Given the description of an element on the screen output the (x, y) to click on. 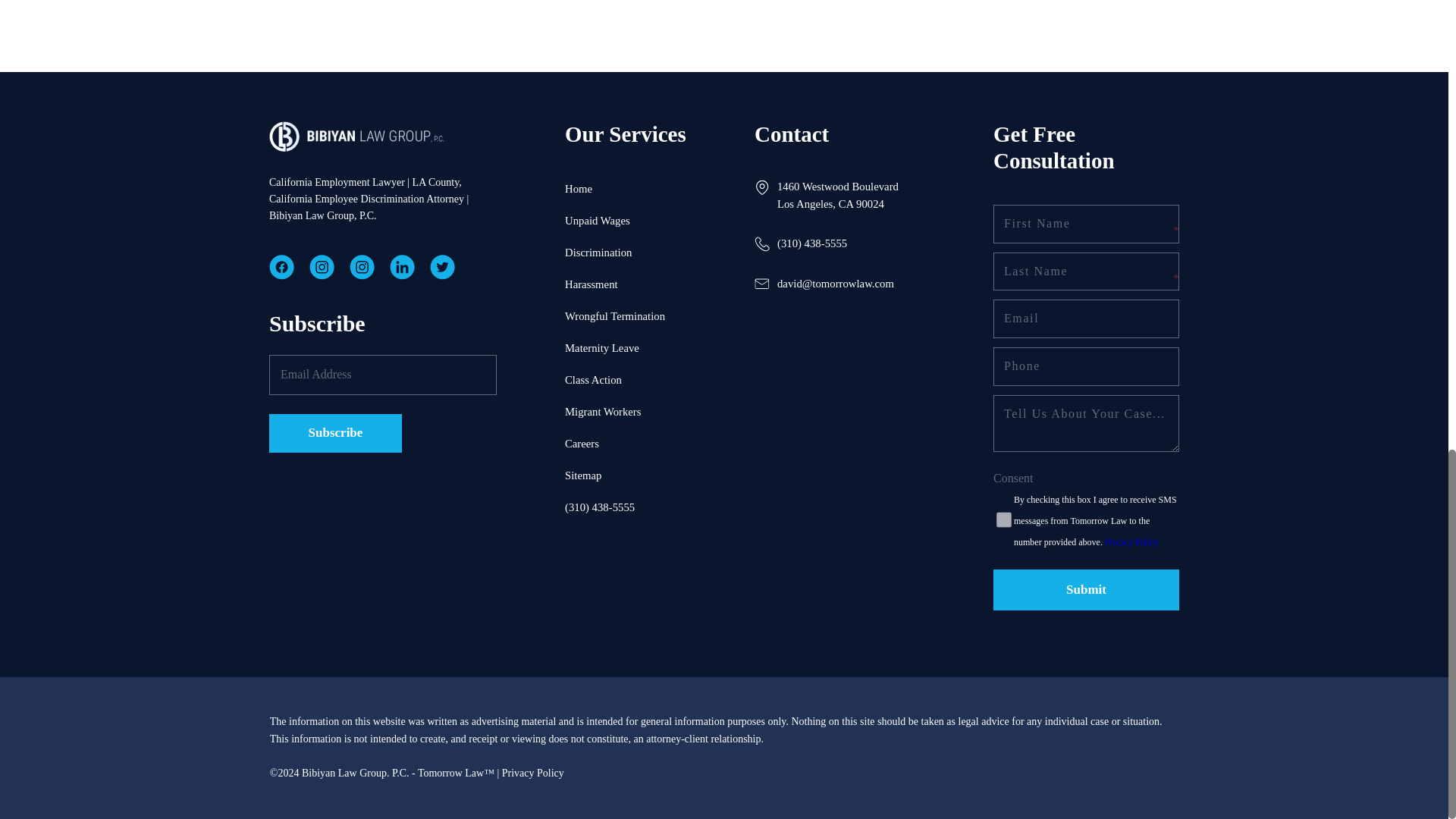
Subscribe (335, 433)
